Given the description of an element on the screen output the (x, y) to click on. 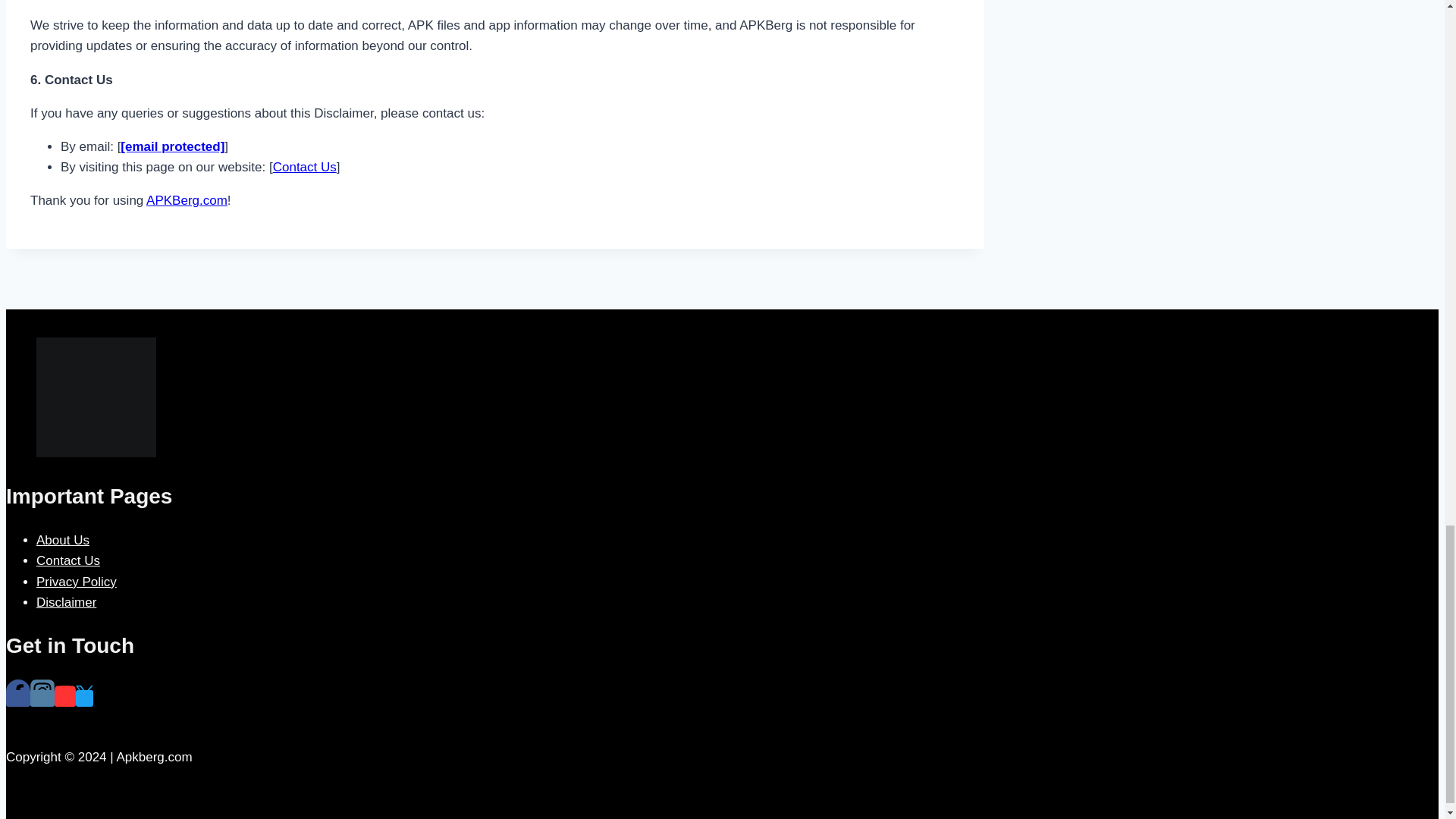
About Us (62, 540)
Instagram (42, 698)
YouTube (65, 692)
X (84, 698)
X (84, 694)
Facebook (17, 698)
YouTube (65, 698)
Contact Us (304, 166)
APKBerg.com (187, 200)
Facebook (17, 691)
